Given the description of an element on the screen output the (x, y) to click on. 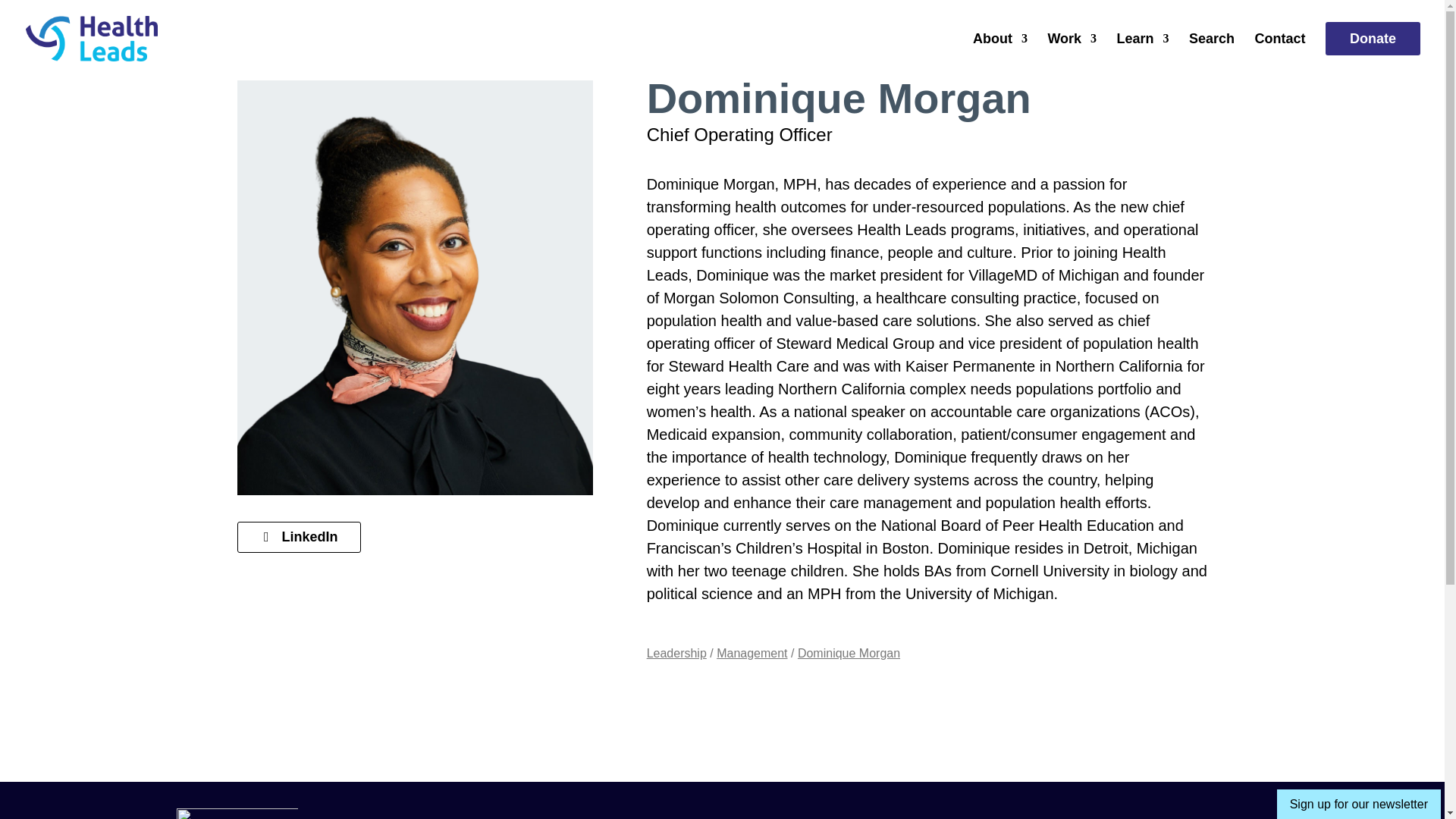
Search (1211, 54)
Leadership (676, 653)
Follow on Facebook (1179, 814)
Management (751, 653)
Follow on Youtube (1252, 814)
Contact (1280, 54)
Donate (1372, 54)
Learn (1142, 54)
Work (1071, 54)
LinkedIn (297, 536)
